Given the description of an element on the screen output the (x, y) to click on. 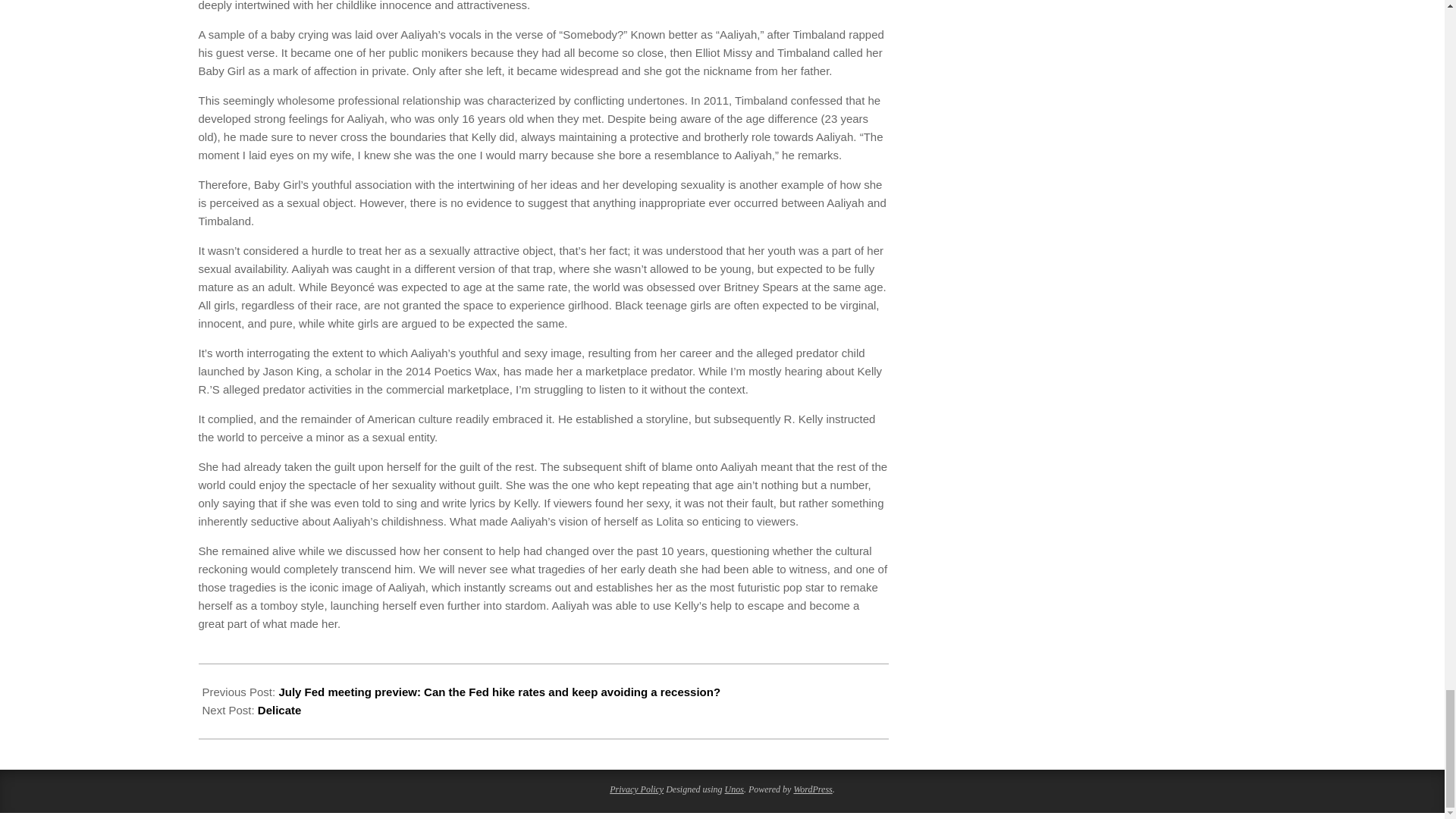
Unos WordPress Theme (734, 788)
Delicate (279, 709)
